Given the description of an element on the screen output the (x, y) to click on. 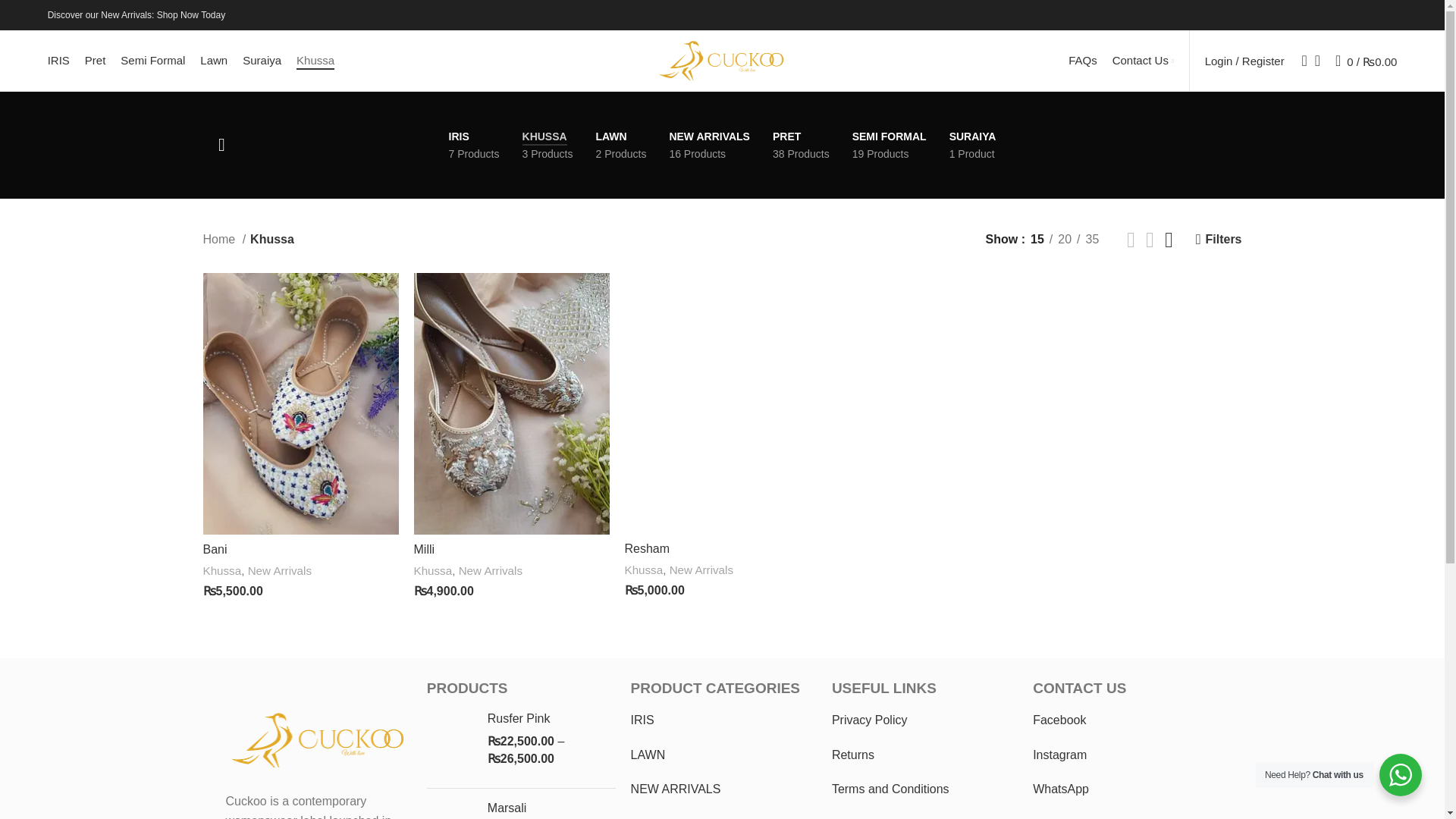
Rusfer Pink (551, 718)
Discover our New Arrivals: (102, 14)
20 (708, 144)
Contact Us (473, 144)
Khussa (1064, 239)
